Given the description of an element on the screen output the (x, y) to click on. 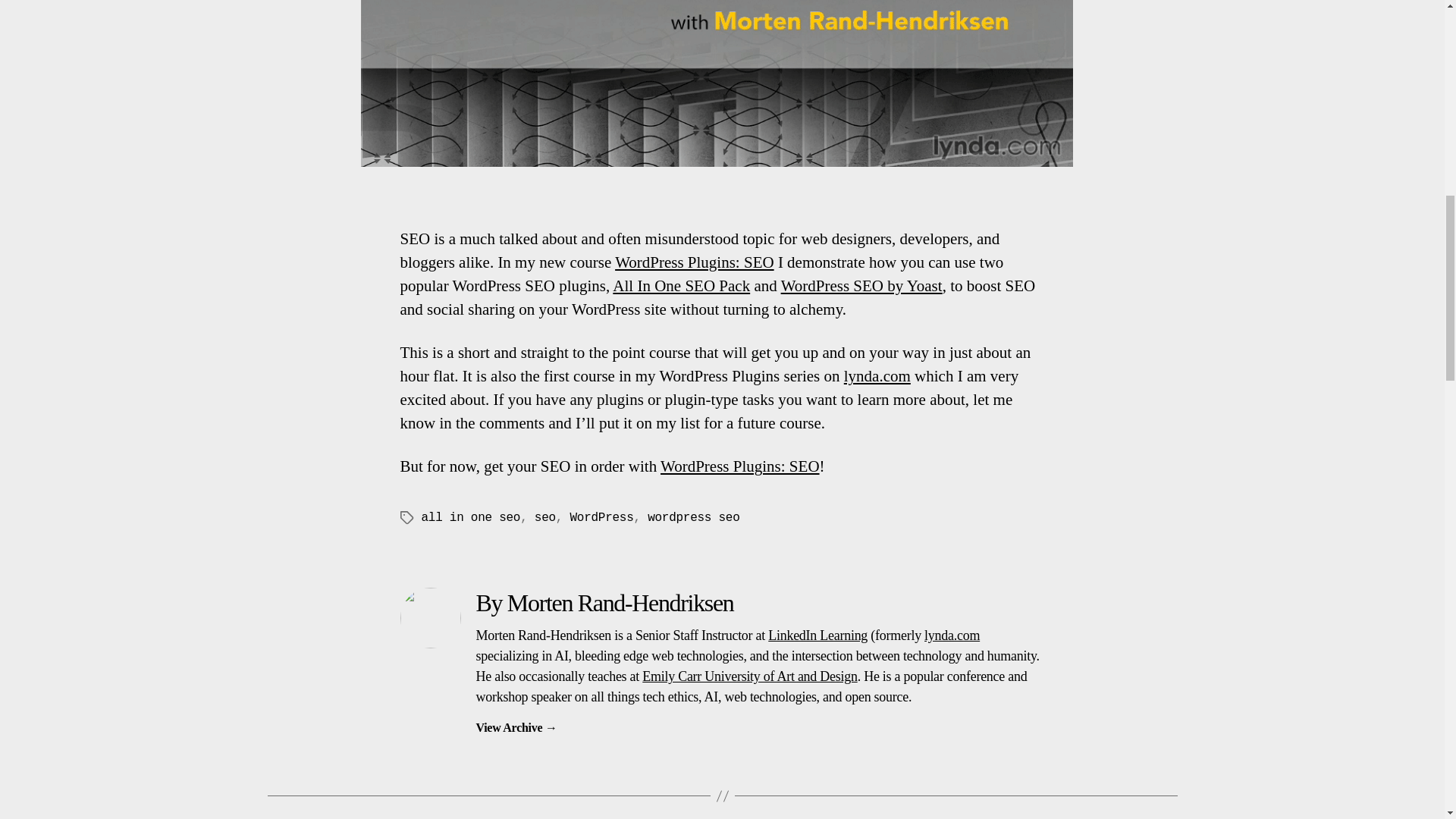
Boost your SEO with Morten Rand-Hendriksen and lynda.com (740, 466)
seo (545, 517)
WordPress Plugins: SEO (740, 466)
WordPress Plugins: SEO (694, 262)
WordPress SEO by Yoast (861, 285)
lynda.com - online video training library (951, 635)
LinkedIn Learning (817, 635)
Get a 7 day free trial for lynda.com (877, 375)
lynda.com (877, 375)
all in one seo (471, 517)
